Given the description of an element on the screen output the (x, y) to click on. 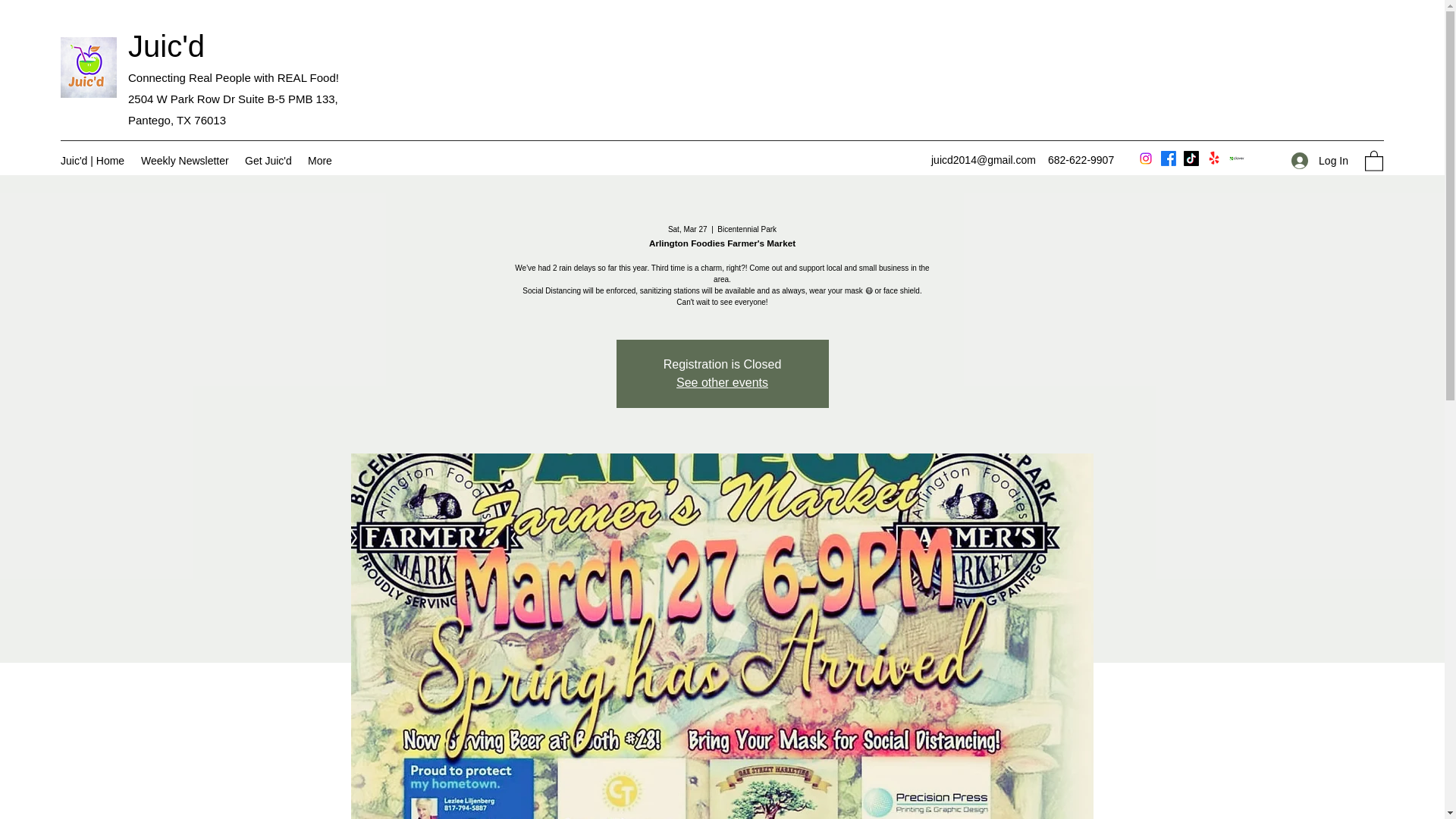
Weekly Newsletter (185, 160)
Get Juic'd (268, 160)
See other events (722, 382)
Juic'd (166, 46)
Log In (1319, 161)
